Given the description of an element on the screen output the (x, y) to click on. 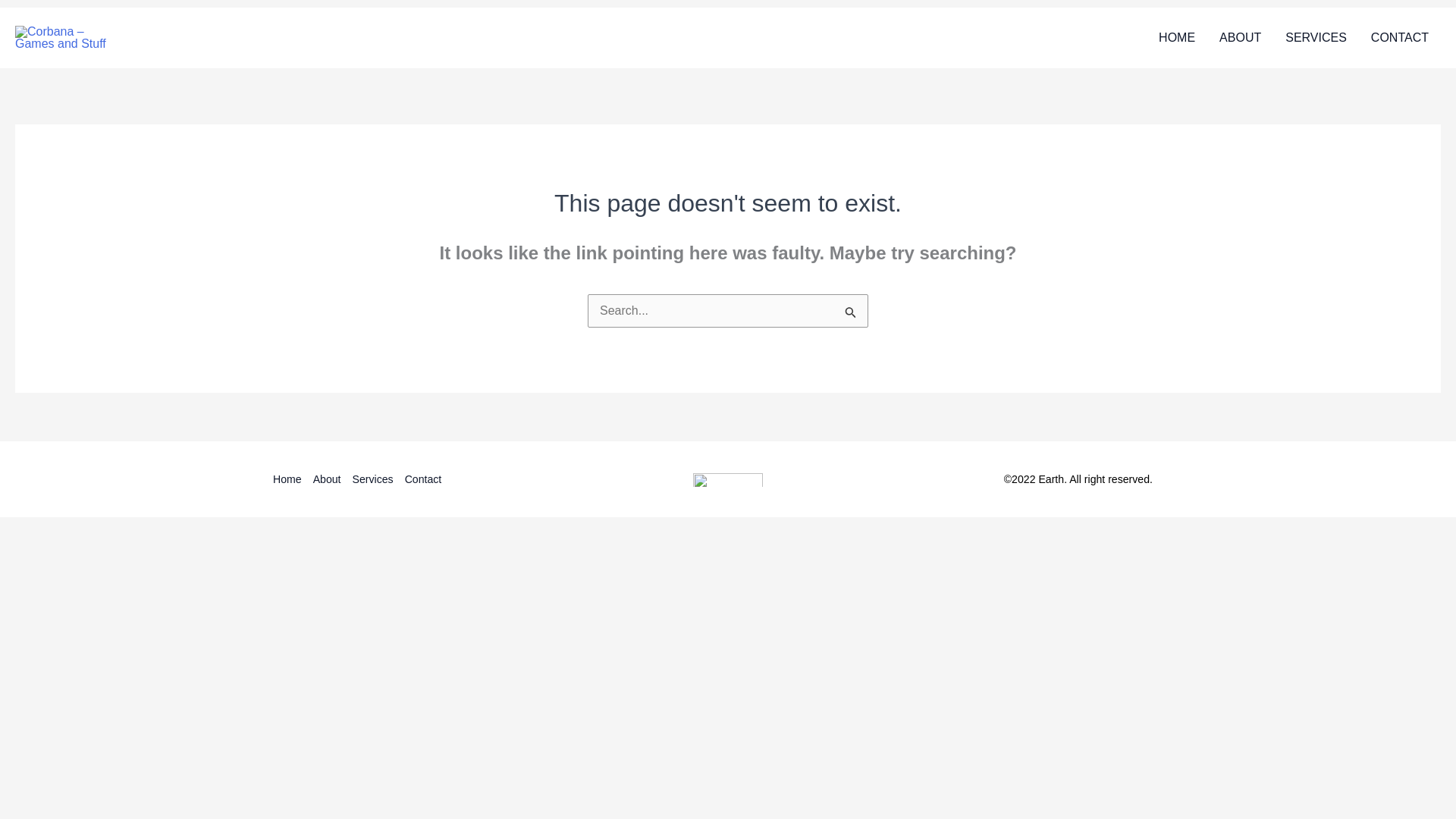
CONTACT (1399, 37)
HOME (1177, 37)
SERVICES (1315, 37)
ABOUT (1239, 37)
Services (378, 478)
About (332, 478)
Home (293, 478)
Contact (428, 478)
